Given the description of an element on the screen output the (x, y) to click on. 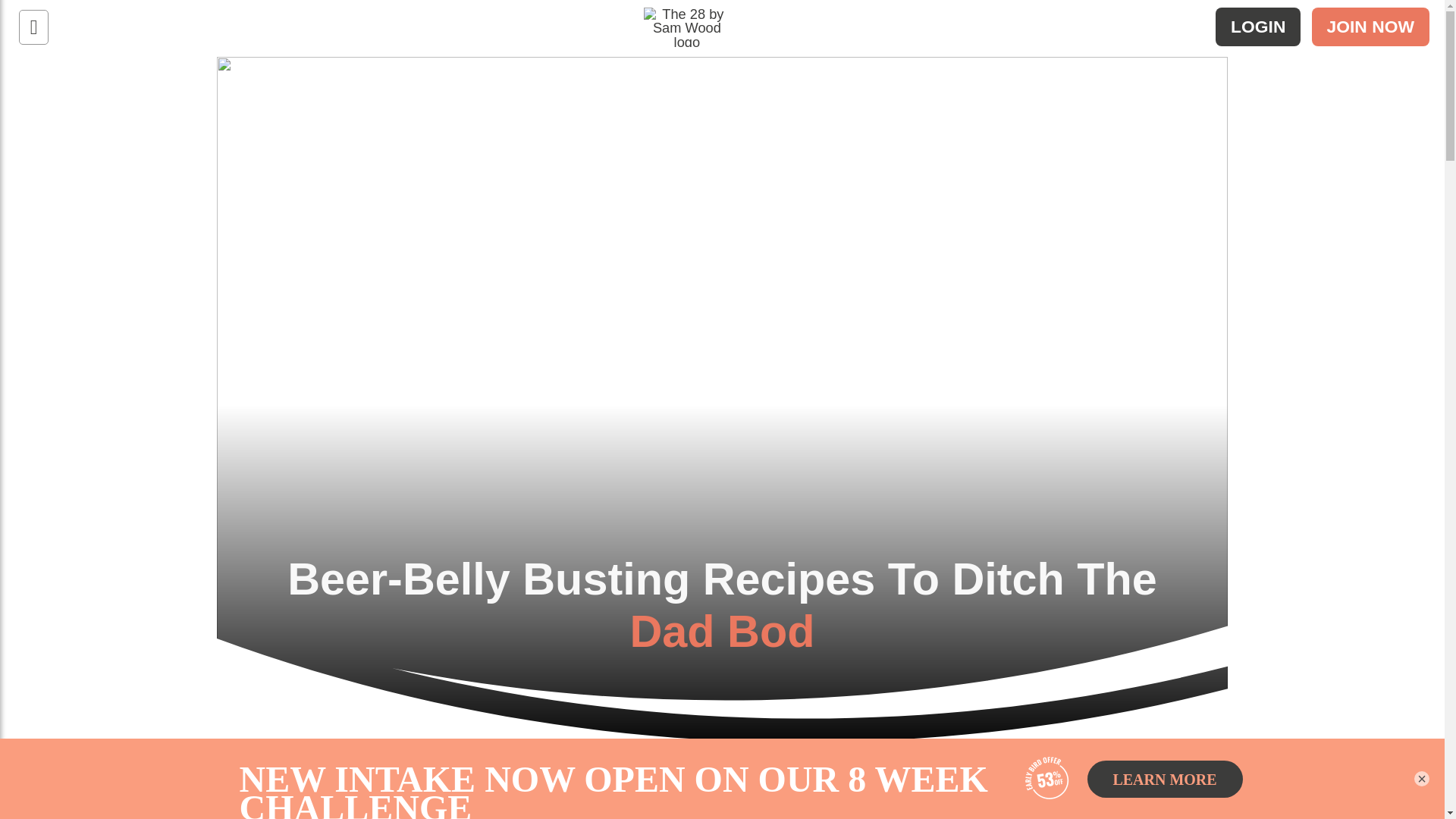
Submit (35, 17)
JOIN NOW (1370, 26)
28 By Sam Wood (715, 69)
LOGIN (1257, 26)
